Given the description of an element on the screen output the (x, y) to click on. 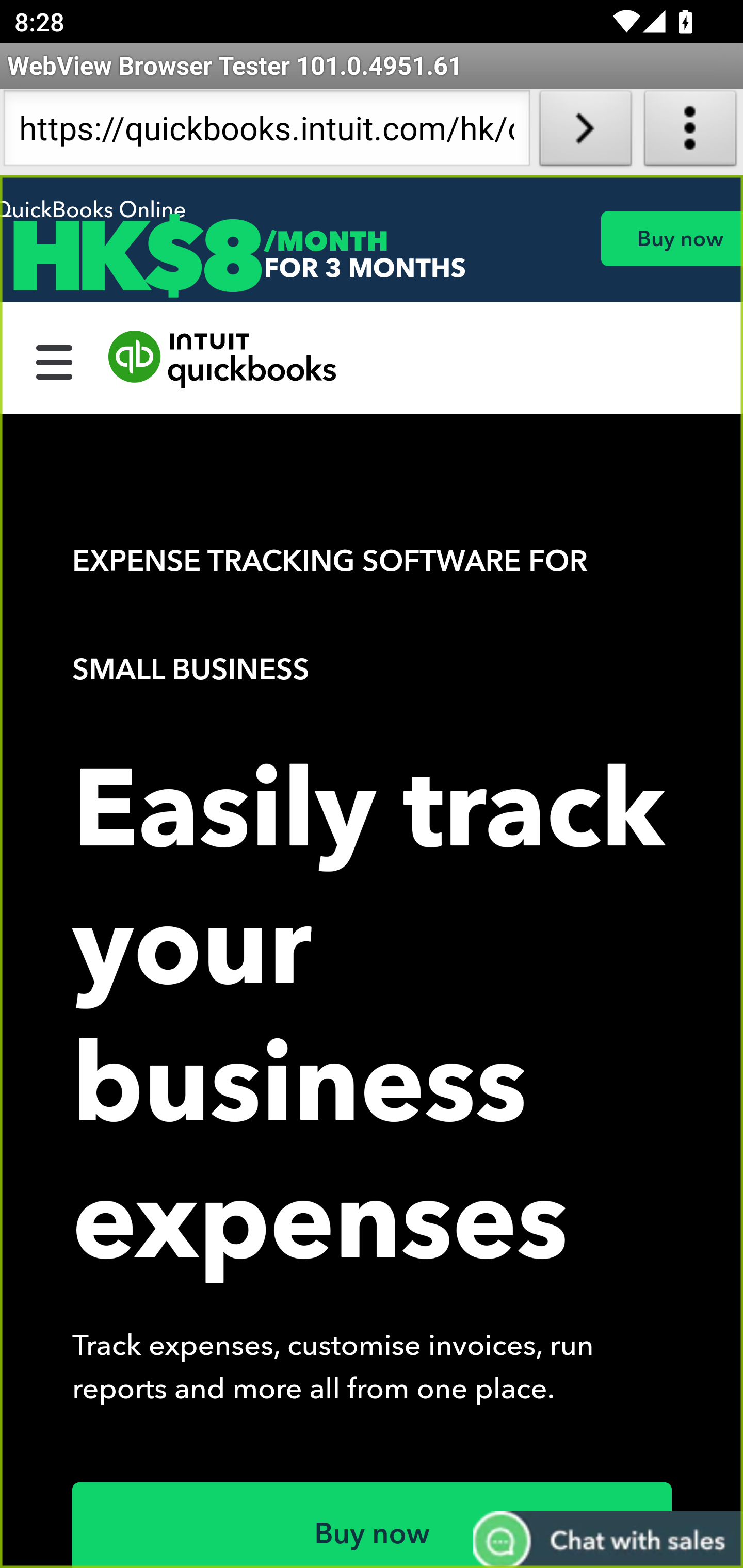
Load URL (585, 132)
About WebView (690, 132)
Buy now (671, 238)
quickbooks-mobile-burger (54, 359)
quickbooks (222, 359)
Buy now (372, 1524)
